Given the description of an element on the screen output the (x, y) to click on. 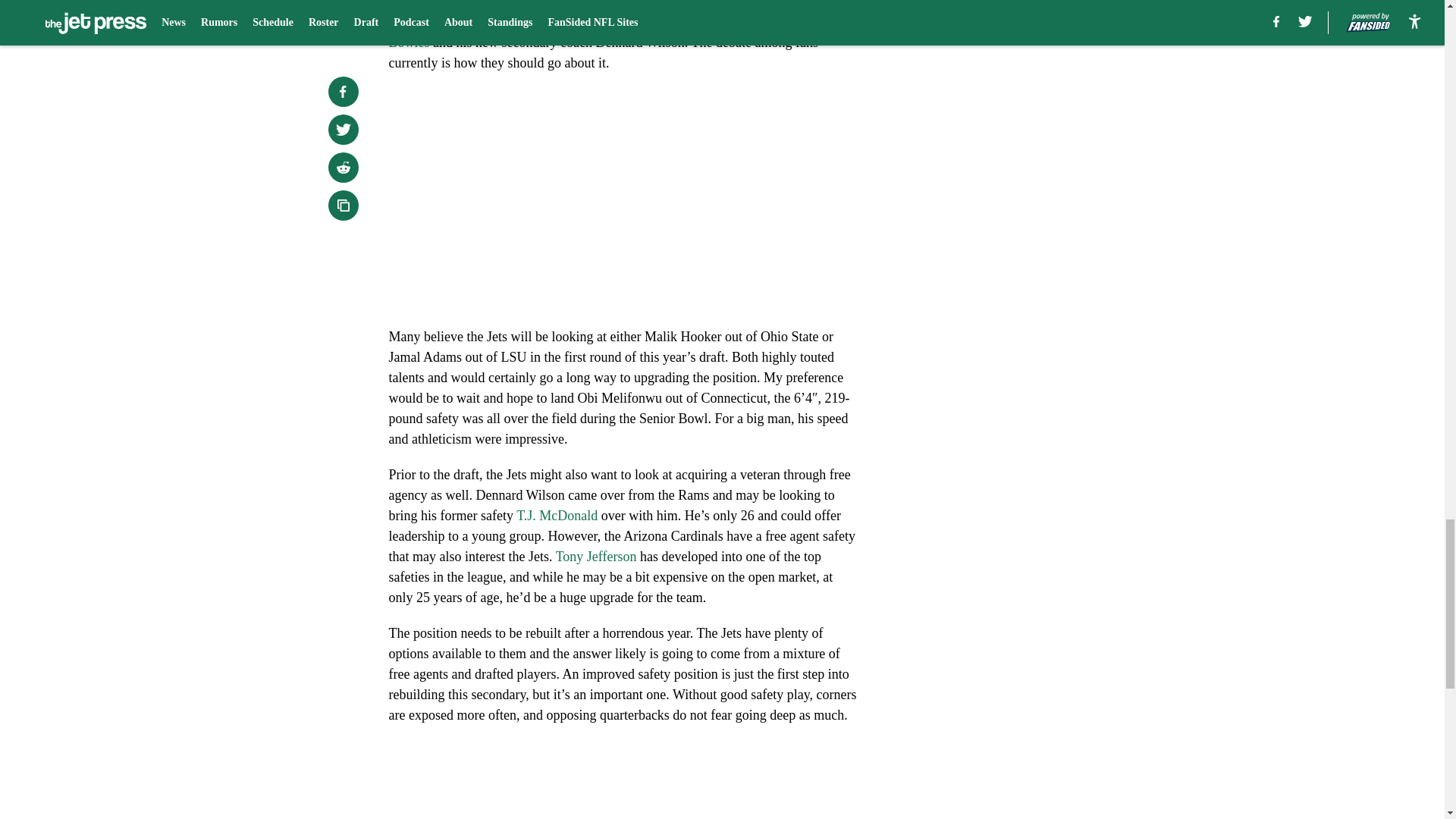
T.J. McDonald (556, 515)
Tony Jefferson (596, 556)
Todd Bowles (619, 31)
